Given the description of an element on the screen output the (x, y) to click on. 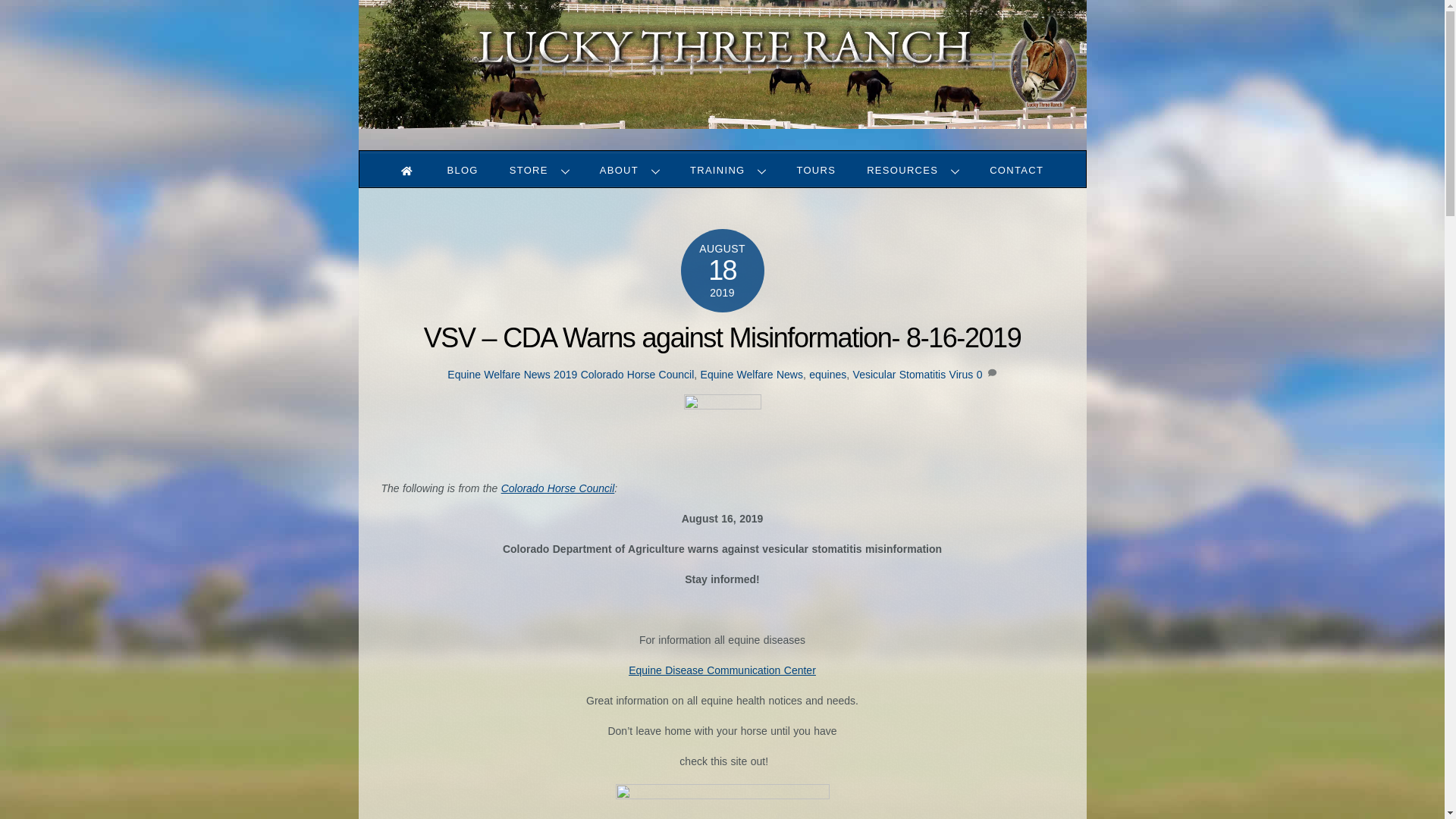
ABOUT (722, 161)
STORE (629, 170)
RESOURCES (539, 170)
TRAINING (912, 170)
TOURS (727, 170)
BLOG (815, 170)
